Given the description of an element on the screen output the (x, y) to click on. 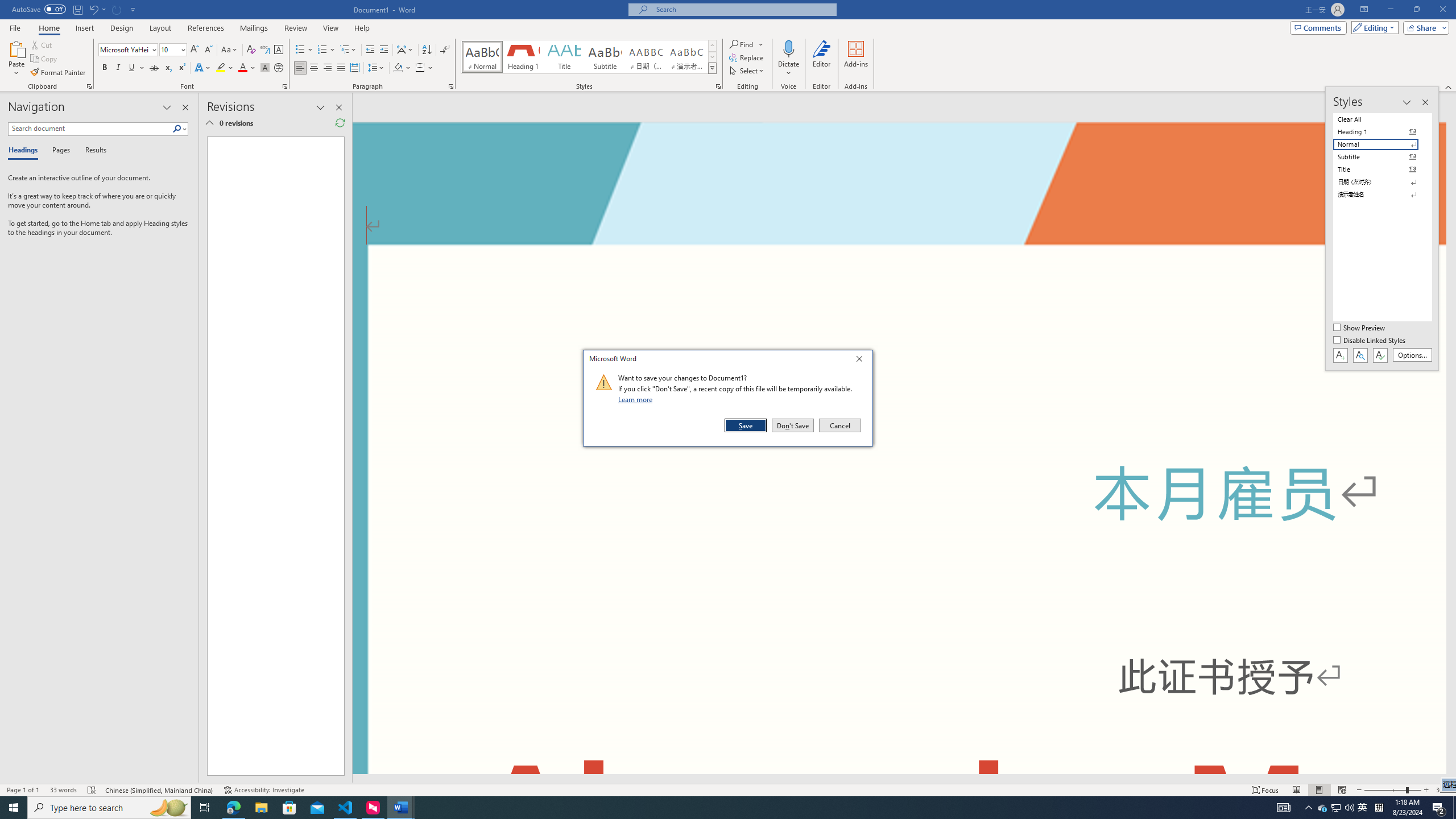
More Options (788, 68)
Underline (131, 67)
Character Border (278, 49)
Subscript (167, 67)
Layout (160, 28)
Paste (16, 48)
Numbering (326, 49)
Superscript (180, 67)
Row up (711, 45)
Format Painter (58, 72)
Spelling and Grammar Check Errors (91, 790)
Read Mode (1296, 790)
Title (564, 56)
Type here to search (108, 807)
Justify (340, 67)
